Given the description of an element on the screen output the (x, y) to click on. 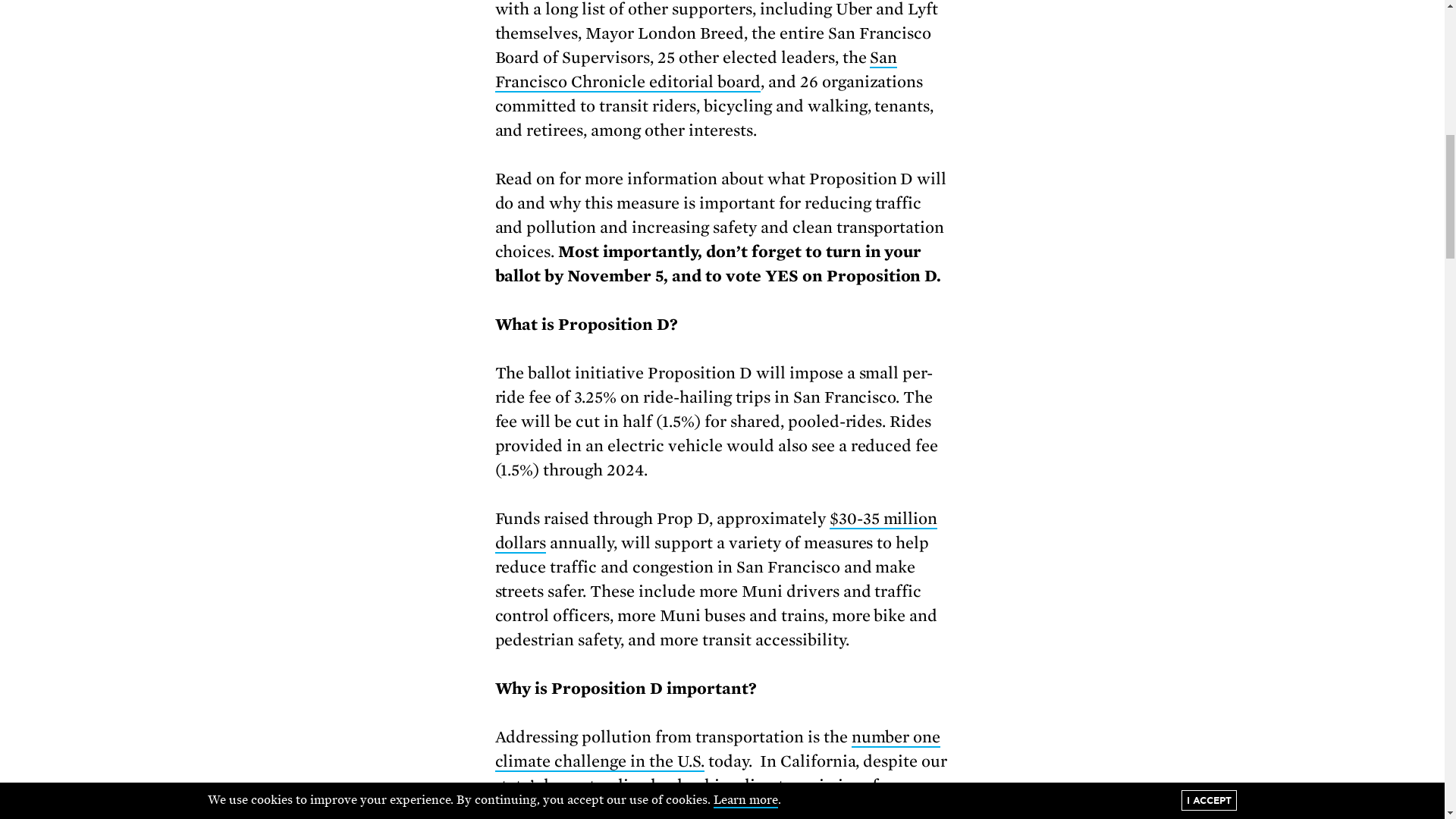
number one climate challenge in the U.S. (717, 750)
San Francisco Chronicle editorial board (695, 70)
